Given the description of an element on the screen output the (x, y) to click on. 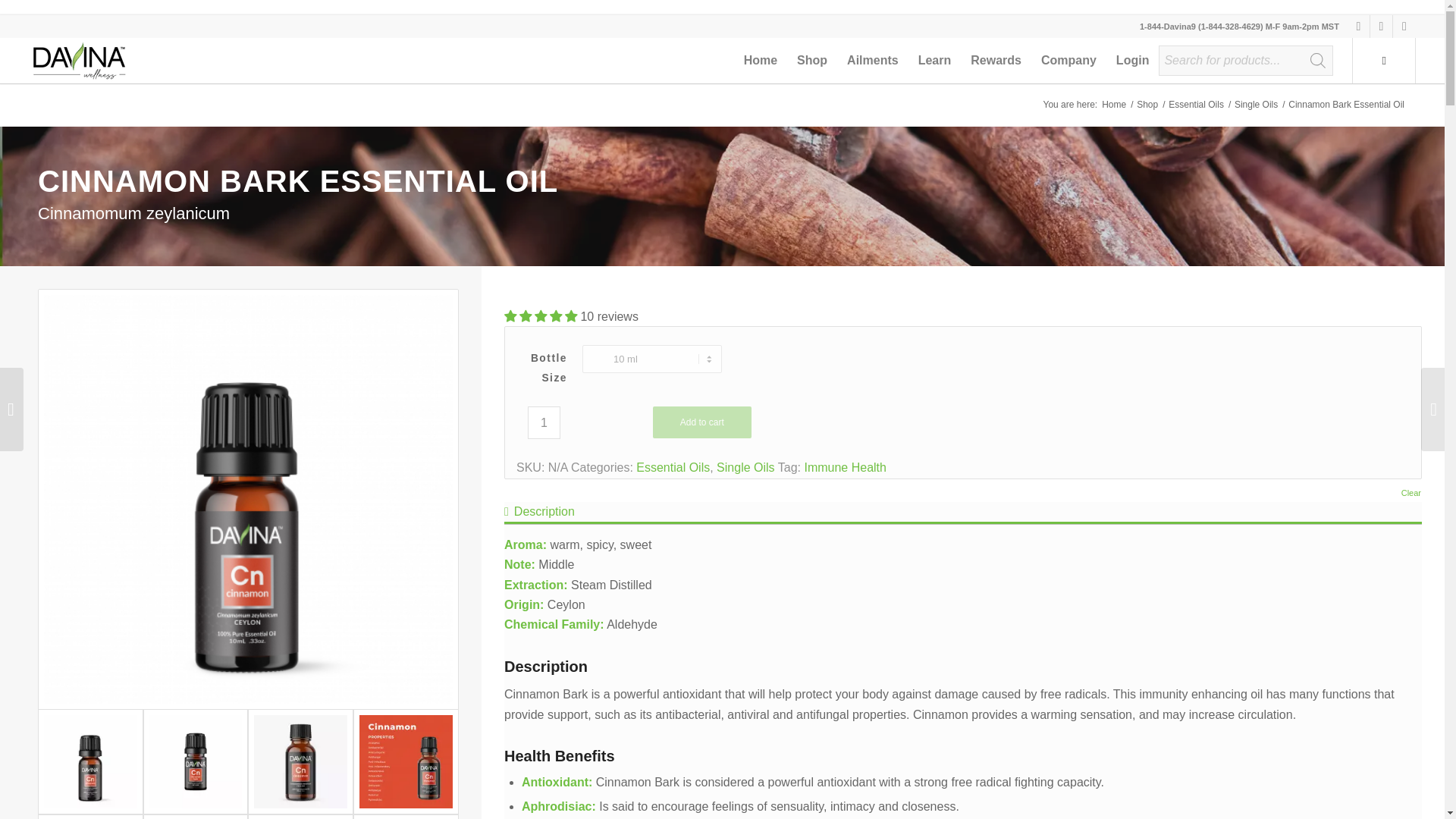
Davina Wellness (1113, 104)
Facebook (1359, 26)
Essential Oils (1195, 104)
Single Oils (1255, 104)
1 (543, 422)
Instagram (1380, 26)
5 ml Cinnamon (195, 761)
Shop (812, 60)
Home (760, 60)
Shop (1147, 104)
10 ml Cinnamon (89, 761)
Pinterest (1404, 26)
Ailments (872, 60)
